Given the description of an element on the screen output the (x, y) to click on. 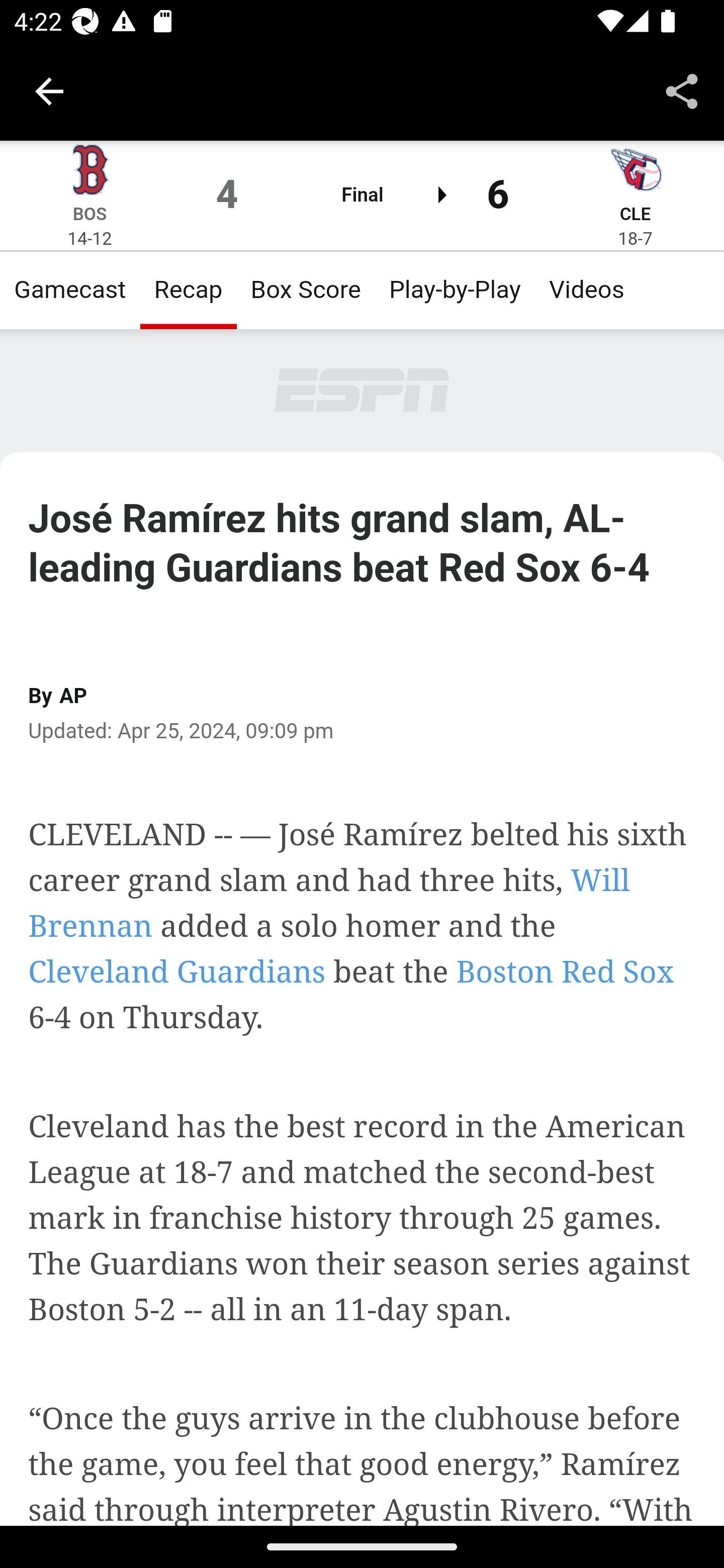
Navigate up (49, 91)
Share (681, 90)
Boston Red Sox (89, 170)
Cleveland Guardians (635, 170)
BOS (89, 214)
CLE (635, 214)
Gamecast (70, 289)
Recap (188, 289)
Box Score (306, 289)
Play-by-Play (454, 289)
Videos (586, 289)
Will Brennan (329, 902)
Cleveland Guardians (177, 971)
Boston Red Sox (565, 971)
